Given the description of an element on the screen output the (x, y) to click on. 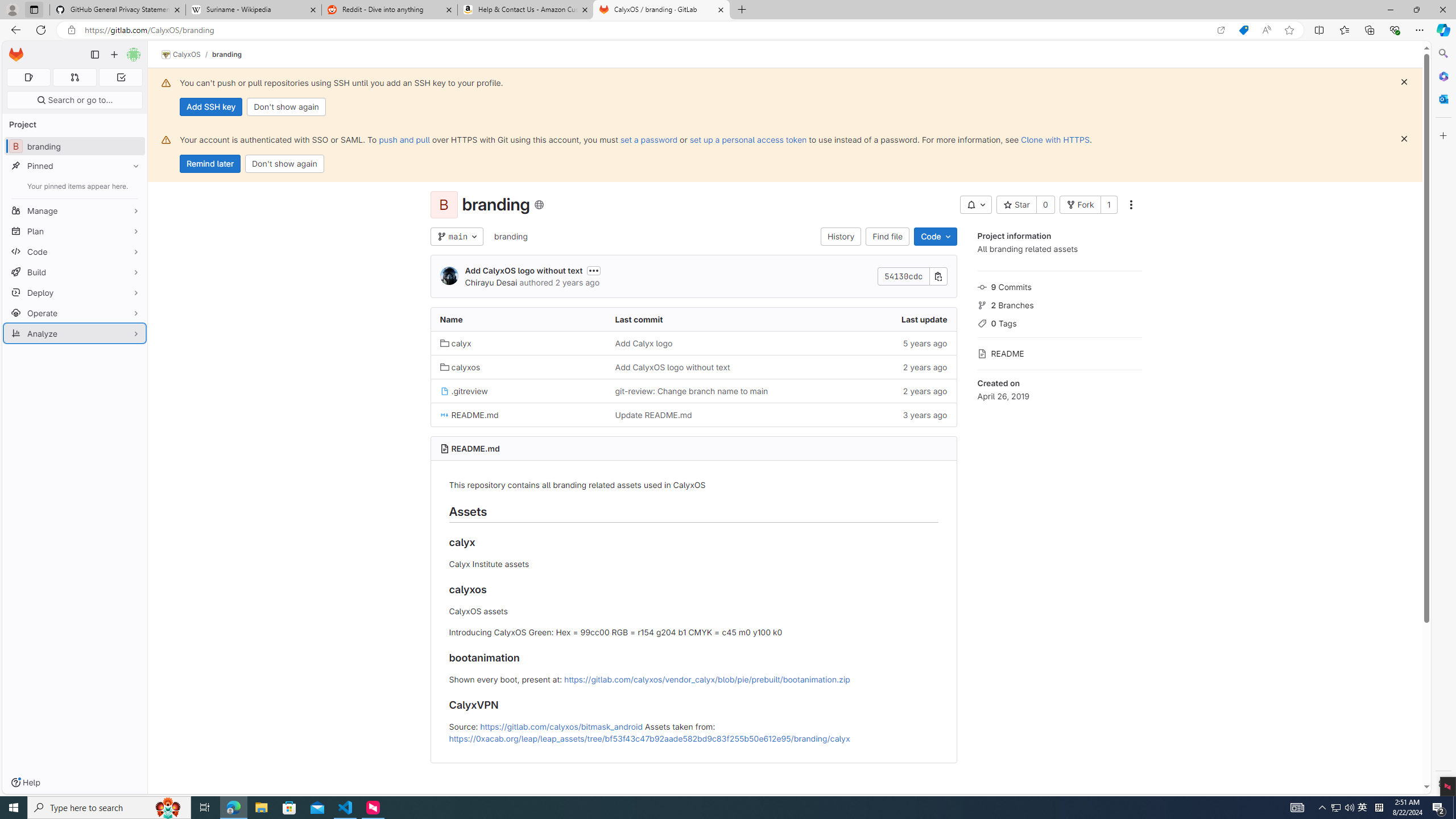
push and pull (403, 139)
Chirayu Desai's avatar (448, 275)
Help & Contact Us - Amazon Customer Service (525, 9)
Add Calyx logo (693, 342)
2 Branches (1058, 304)
Analyze (74, 333)
Update README.md (693, 414)
0 Tags (1058, 322)
Add Calyx logo (643, 342)
0 (1045, 204)
